Given the description of an element on the screen output the (x, y) to click on. 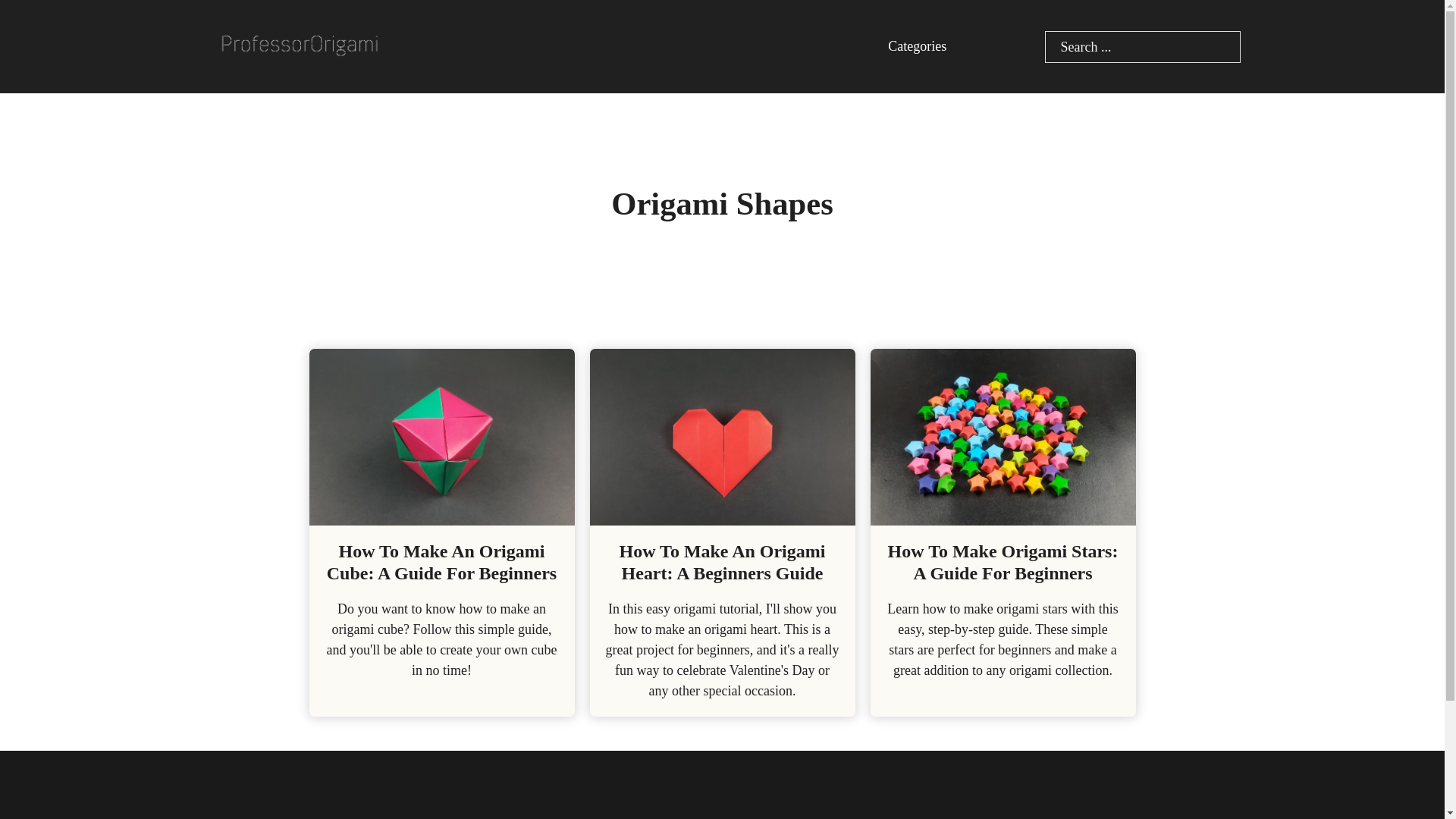
How To Make An Origami Cube: A Guide For Beginners (441, 562)
Categories (917, 46)
How To Make Origami Stars: A Guide For Beginners (1003, 562)
How To Make An Origami Heart: A Beginners Guide (722, 562)
